Given the description of an element on the screen output the (x, y) to click on. 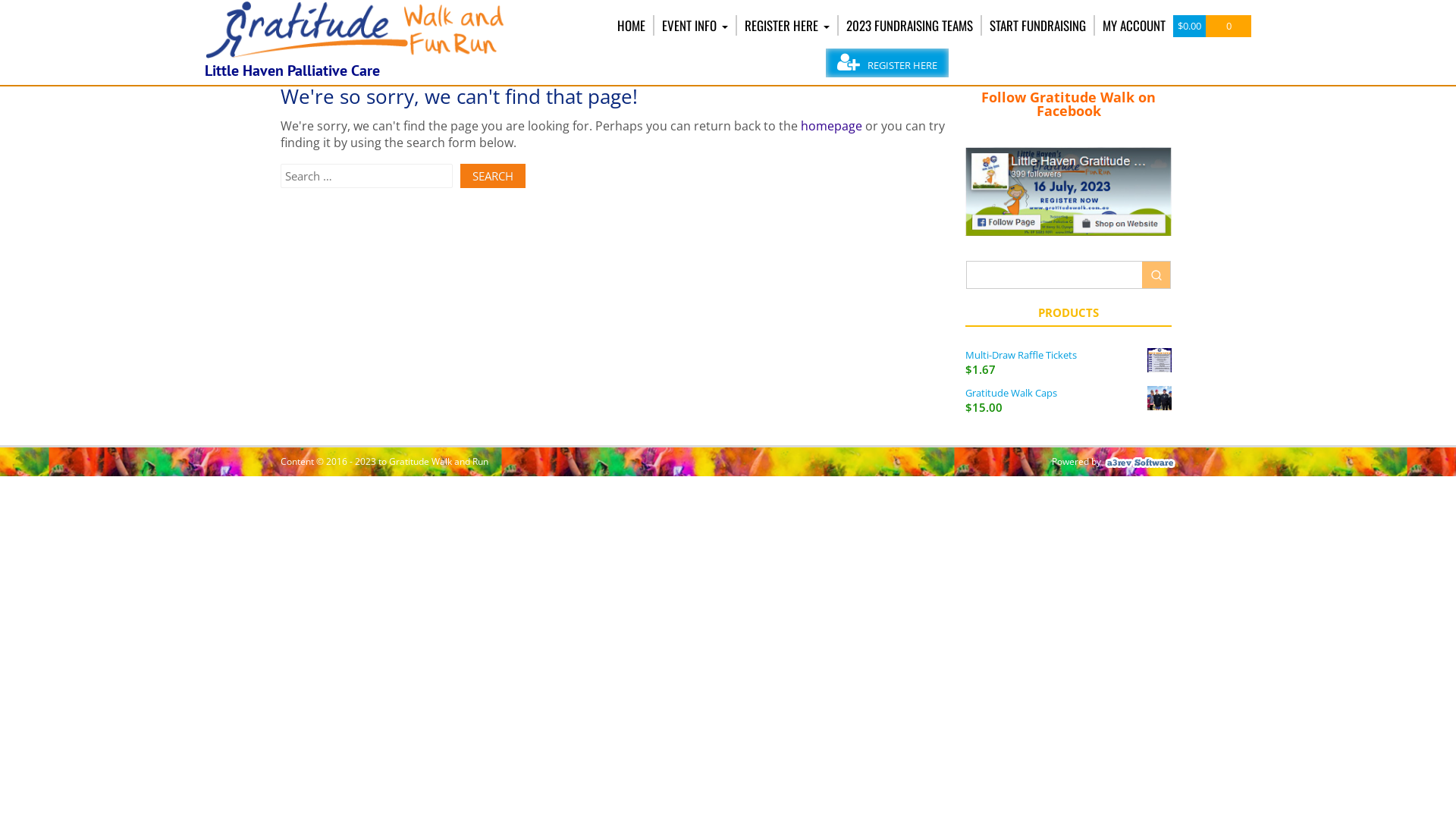
REGISTER HERE Element type: text (787, 25)
EVENT INFO Element type: text (694, 25)
Gratitude Walk Caps Element type: text (1068, 393)
MY ACCOUNT Element type: text (1134, 25)
START FUNDRAISING Element type: text (1037, 25)
Search Element type: text (492, 175)
$0.00
0 Element type: text (1212, 26)
Multi-Draw Raffle Tickets Element type: text (1068, 355)
HOME Element type: text (630, 25)
homepage Element type: text (831, 124)
Gratitude Walk and Run Element type: hover (356, 54)
REGISTER HERE Element type: text (886, 62)
2023 FUNDRAISING TEAMS Element type: text (909, 25)
